Given the description of an element on the screen output the (x, y) to click on. 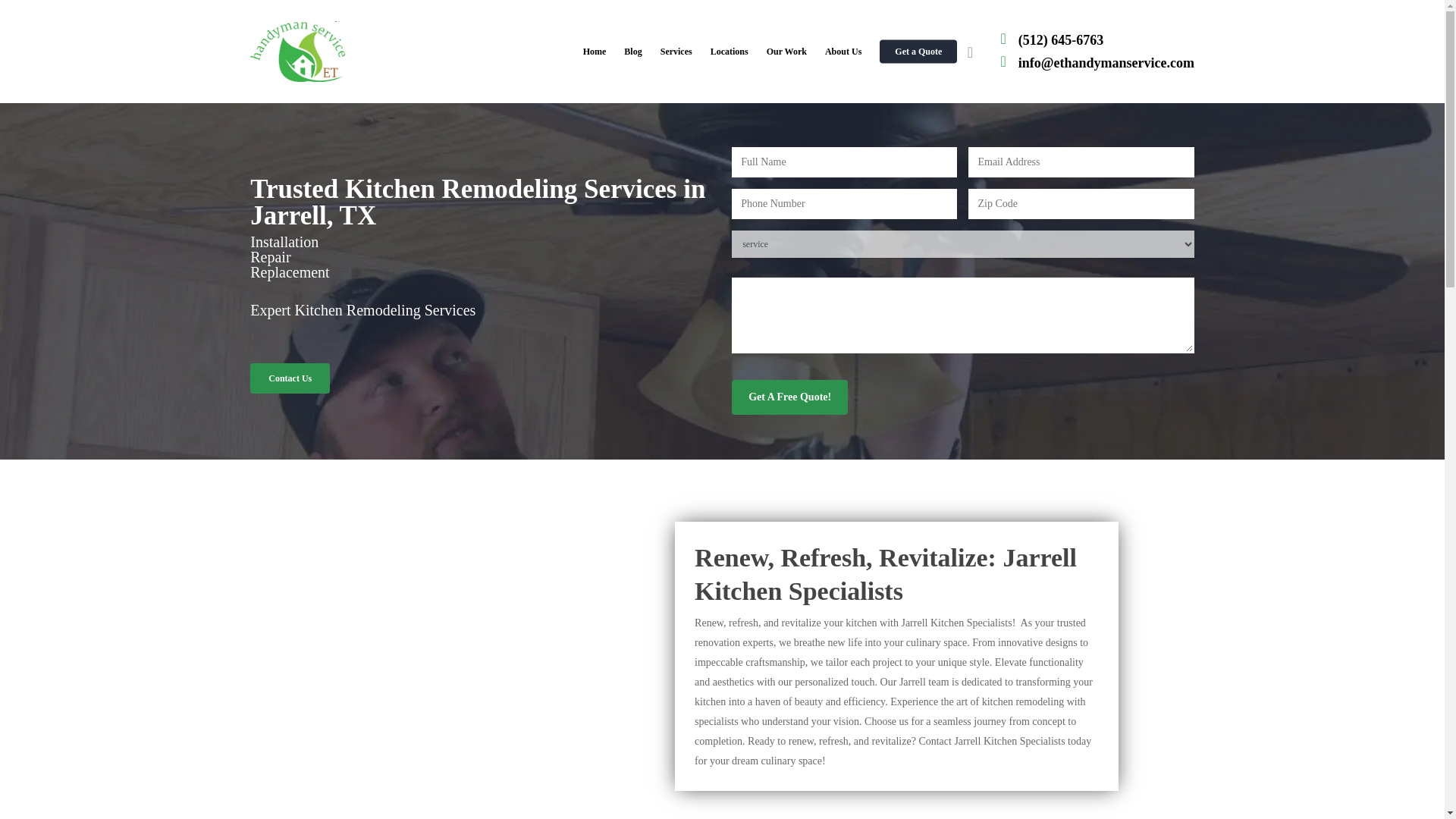
Blog (632, 51)
Get A Free Quote! (789, 397)
Get a Quote (917, 51)
Home (594, 51)
Contact Us (290, 378)
Get A Free Quote! (789, 397)
Services (675, 51)
Our Work (786, 51)
Locations (729, 51)
About Us (842, 51)
